Given the description of an element on the screen output the (x, y) to click on. 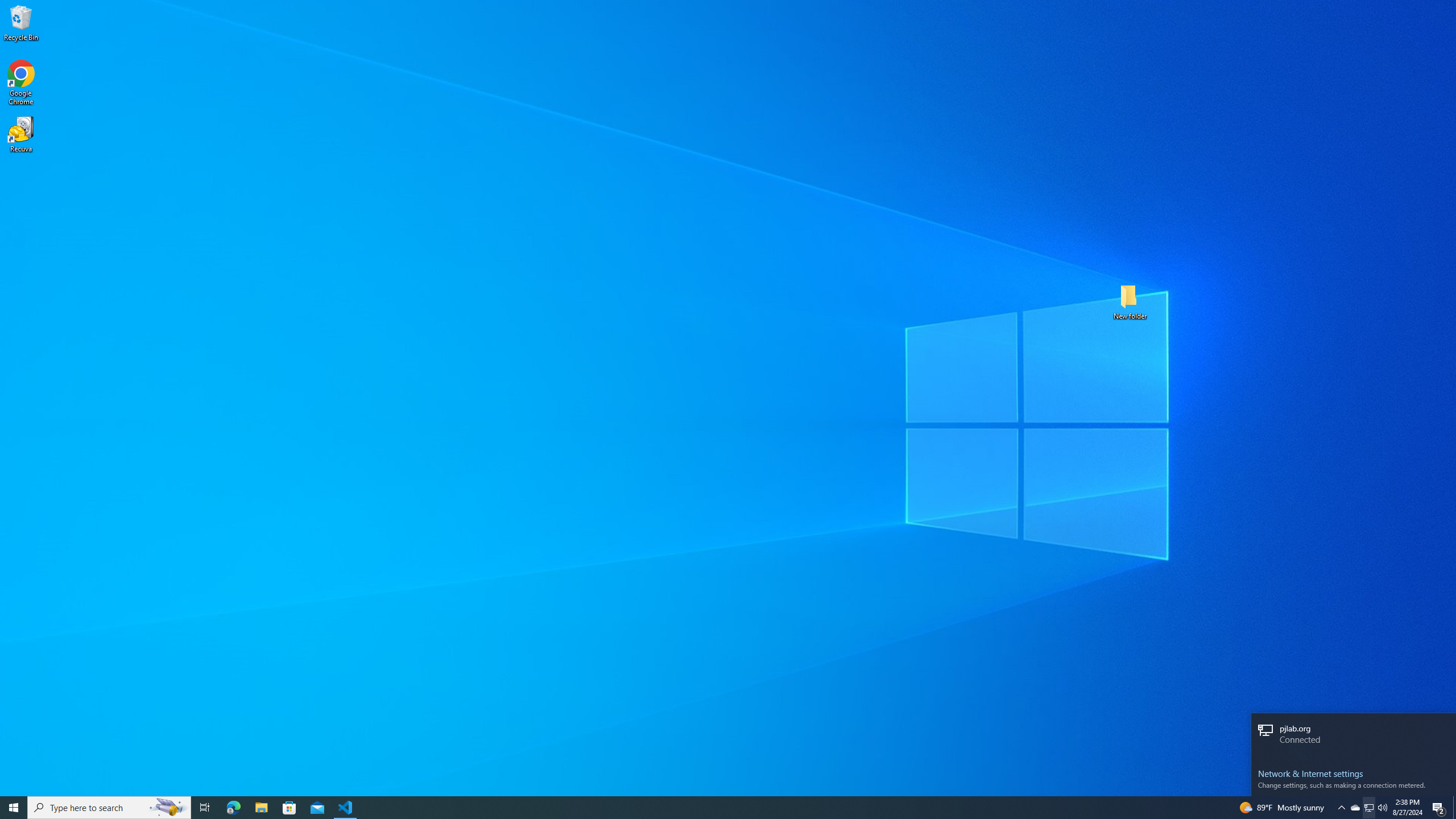
Action Center, 2 new notifications (1439, 807)
